Given the description of an element on the screen output the (x, y) to click on. 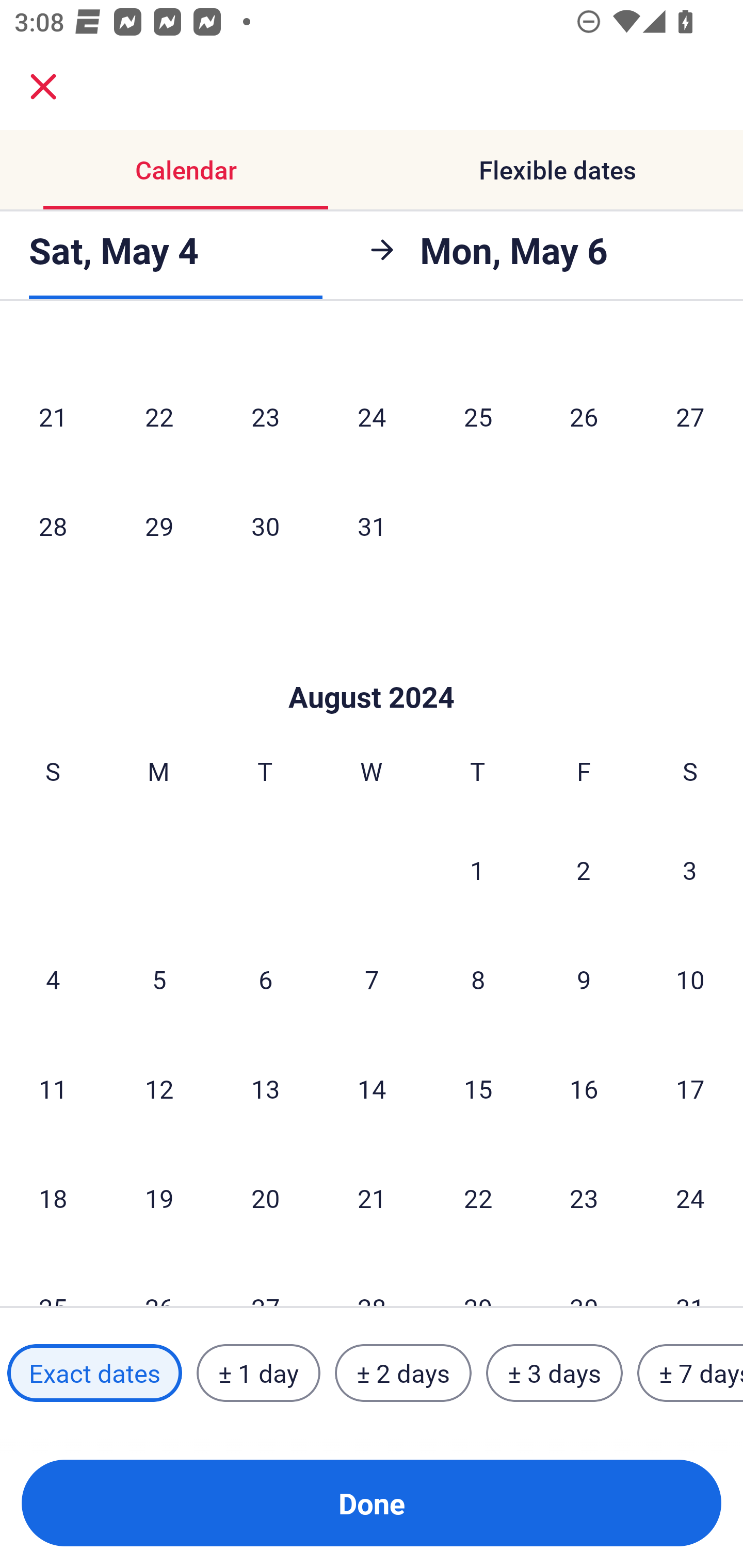
close. (43, 86)
Flexible dates (557, 170)
21 Sunday, July 21, 2024 (53, 415)
22 Monday, July 22, 2024 (159, 415)
23 Tuesday, July 23, 2024 (265, 415)
24 Wednesday, July 24, 2024 (371, 415)
25 Thursday, July 25, 2024 (477, 415)
26 Friday, July 26, 2024 (584, 415)
27 Saturday, July 27, 2024 (690, 415)
28 Sunday, July 28, 2024 (53, 525)
29 Monday, July 29, 2024 (159, 525)
30 Tuesday, July 30, 2024 (265, 525)
31 Wednesday, July 31, 2024 (371, 525)
Skip to Done (371, 666)
1 Thursday, August 1, 2024 (477, 868)
2 Friday, August 2, 2024 (583, 868)
3 Saturday, August 3, 2024 (689, 868)
4 Sunday, August 4, 2024 (53, 978)
5 Monday, August 5, 2024 (159, 978)
6 Tuesday, August 6, 2024 (265, 978)
7 Wednesday, August 7, 2024 (371, 978)
8 Thursday, August 8, 2024 (477, 978)
9 Friday, August 9, 2024 (584, 978)
10 Saturday, August 10, 2024 (690, 978)
11 Sunday, August 11, 2024 (53, 1088)
12 Monday, August 12, 2024 (159, 1088)
13 Tuesday, August 13, 2024 (265, 1088)
14 Wednesday, August 14, 2024 (371, 1088)
15 Thursday, August 15, 2024 (477, 1088)
16 Friday, August 16, 2024 (584, 1088)
17 Saturday, August 17, 2024 (690, 1088)
18 Sunday, August 18, 2024 (53, 1197)
19 Monday, August 19, 2024 (159, 1197)
20 Tuesday, August 20, 2024 (265, 1197)
21 Wednesday, August 21, 2024 (371, 1197)
22 Thursday, August 22, 2024 (477, 1197)
23 Friday, August 23, 2024 (584, 1197)
24 Saturday, August 24, 2024 (690, 1197)
Exact dates (94, 1372)
± 1 day (258, 1372)
± 2 days (403, 1372)
± 3 days (553, 1372)
± 7 days (690, 1372)
Done (371, 1502)
